Given the description of an element on the screen output the (x, y) to click on. 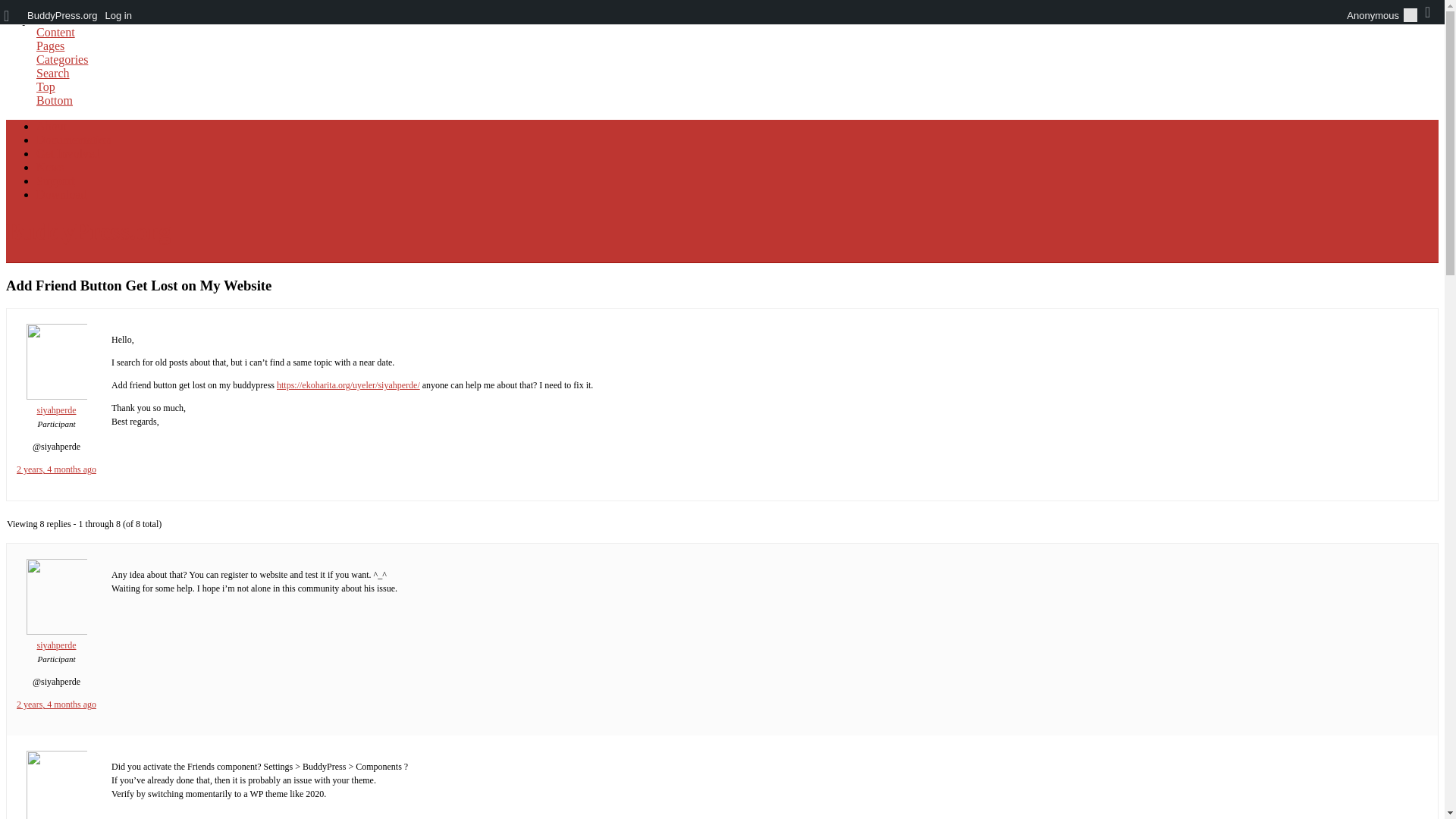
News (50, 166)
Categories (61, 59)
2 years, 4 months ago (56, 704)
Download (61, 194)
siyahperde (56, 403)
Bottom (54, 100)
Pages (50, 45)
Documentation (74, 139)
2 years, 4 months ago (56, 469)
BuddyPress.org (87, 230)
siyahperde (56, 638)
Top (45, 86)
Content (55, 31)
Get Involved (68, 153)
